Given the description of an element on the screen output the (x, y) to click on. 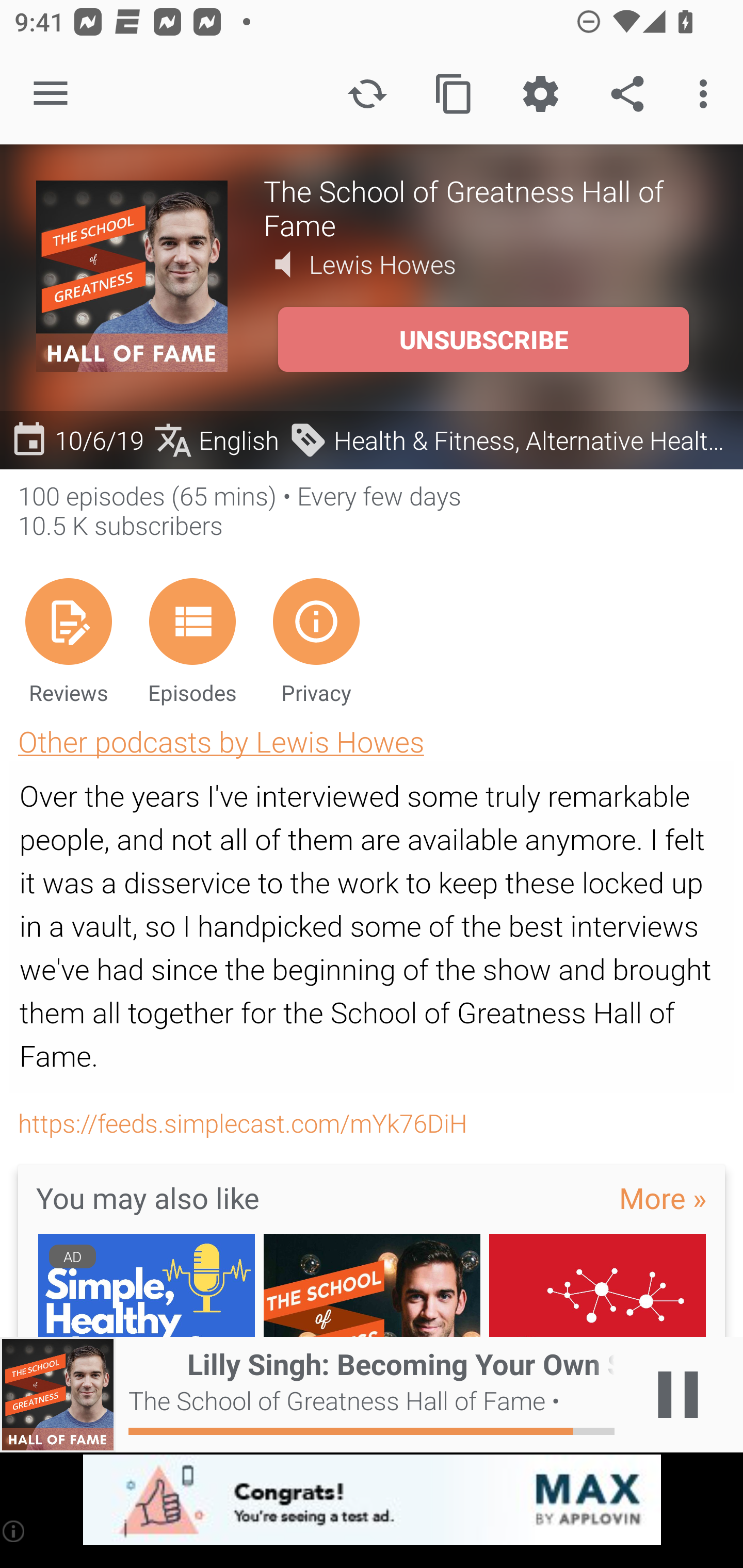
Open navigation sidebar (50, 93)
Refresh podcast description (366, 93)
Copy feed url to clipboard (453, 93)
Custom Settings (540, 93)
Share the podcast (626, 93)
More options (706, 93)
The School of Greatness Hall of Fame (484, 207)
Lewis Howes (382, 263)
UNSUBSCRIBE (482, 339)
Reviews (68, 640)
Episodes (192, 640)
Privacy (315, 640)
Other podcasts by Lewis Howes (220, 740)
More » (662, 1196)
Play / Pause (677, 1394)
app-monetization (371, 1500)
(i) (14, 1531)
